Given the description of an element on the screen output the (x, y) to click on. 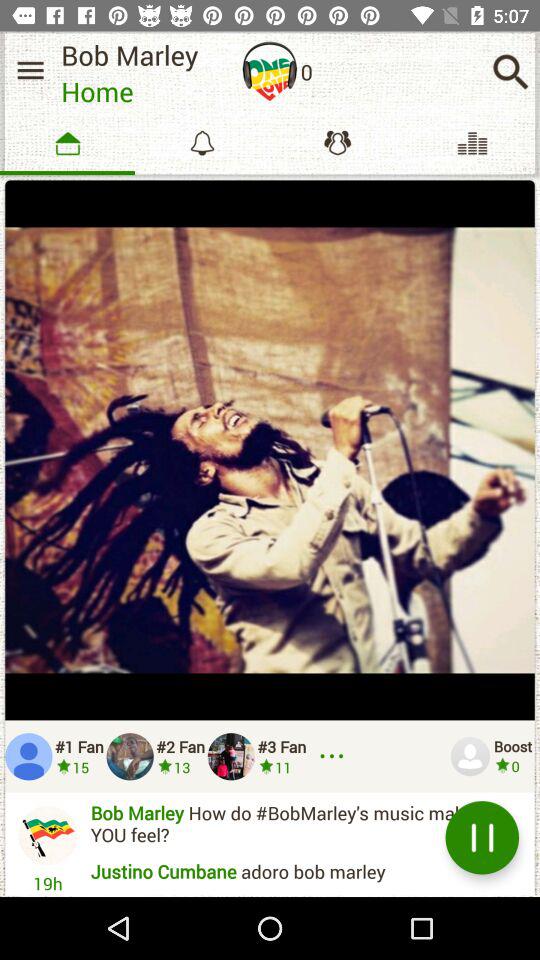
select profile icon (469, 755)
click on the pause symbol (482, 837)
select the profile left to 2 fan (129, 756)
click on the home icon below home (67, 143)
click on the user image of first fan (28, 756)
